Given the description of an element on the screen output the (x, y) to click on. 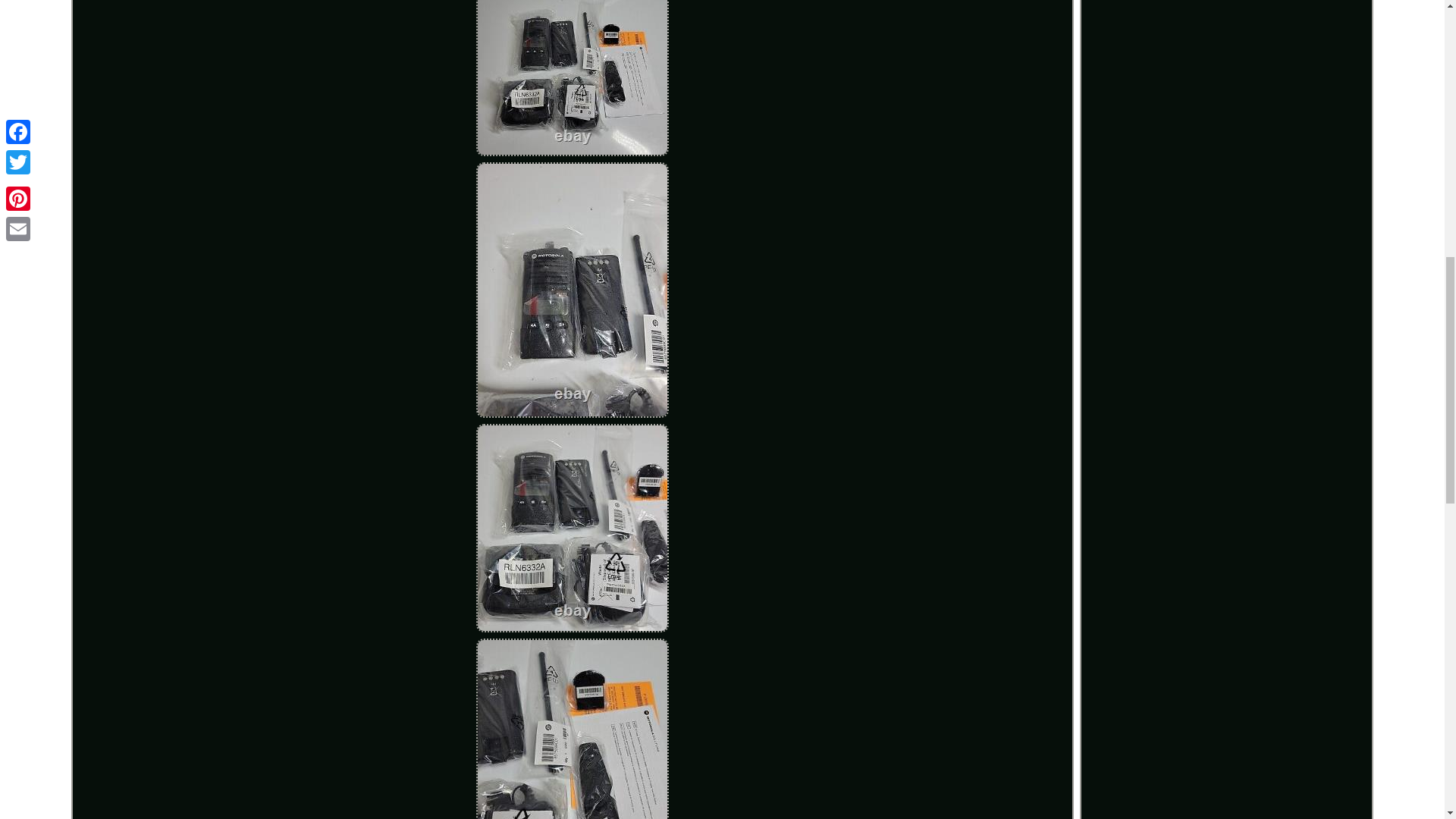
Motorola RDU4160D 16-Channel Two-Way UHF Radio with Display (572, 528)
Motorola RDU4160D 16-Channel Two-Way UHF Radio with Display (572, 78)
Motorola RDU4160D 16-Channel Two-Way UHF Radio with Display (572, 728)
